Given the description of an element on the screen output the (x, y) to click on. 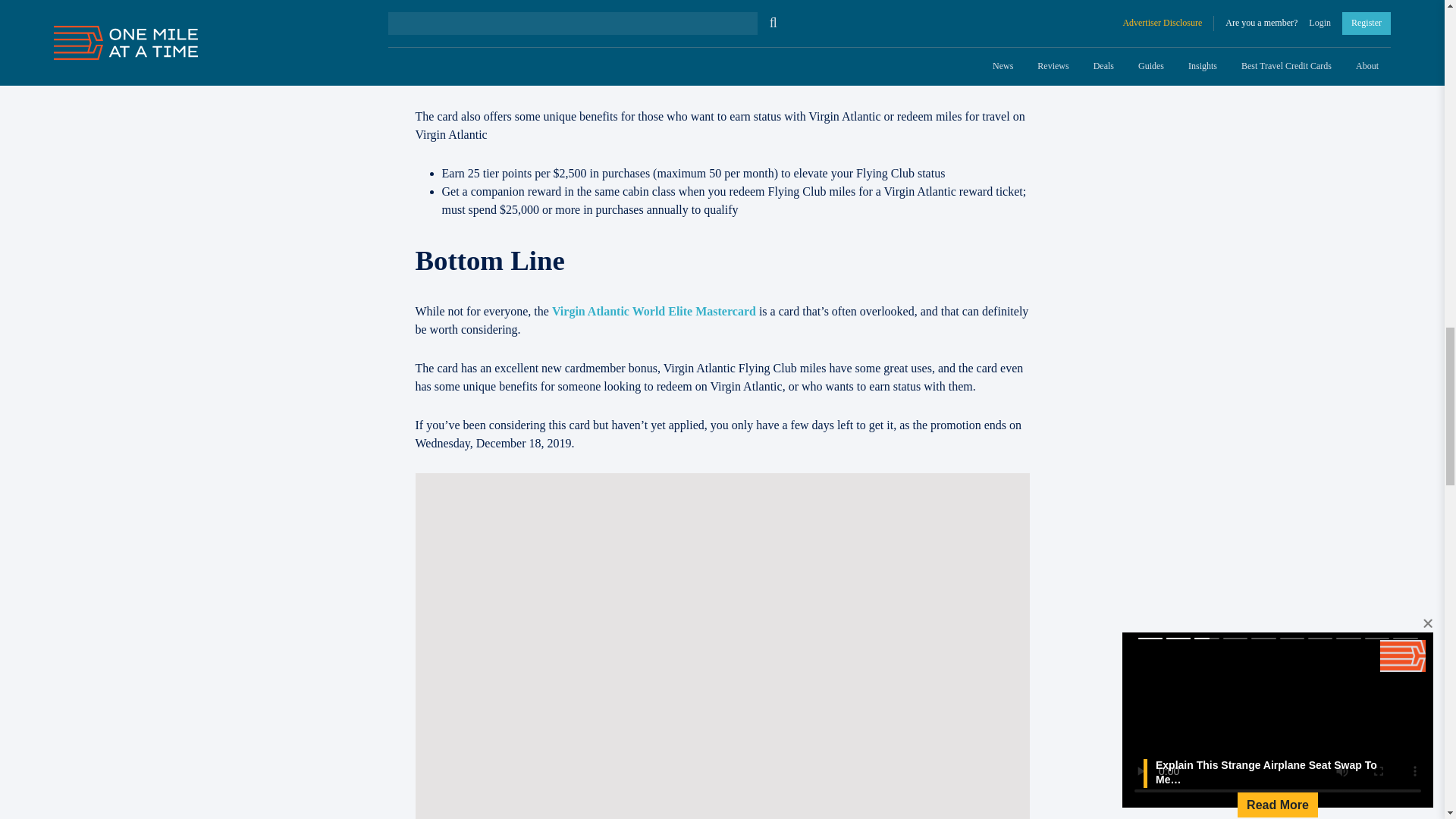
Virgin Atlantic World Elite Mastercard 80k (653, 310)
